Given the description of an element on the screen output the (x, y) to click on. 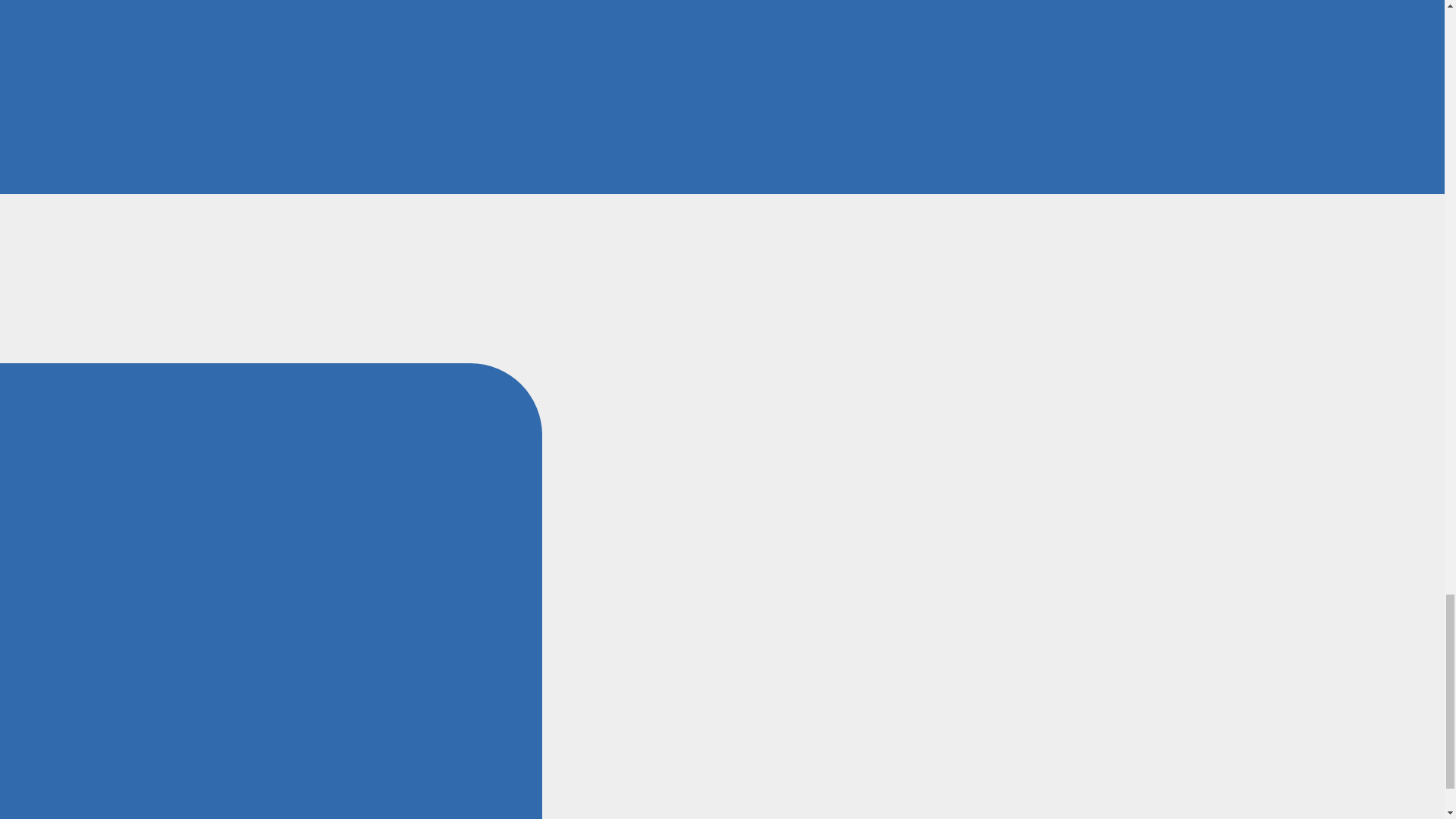
Submit (1146, 169)
